Given the description of an element on the screen output the (x, y) to click on. 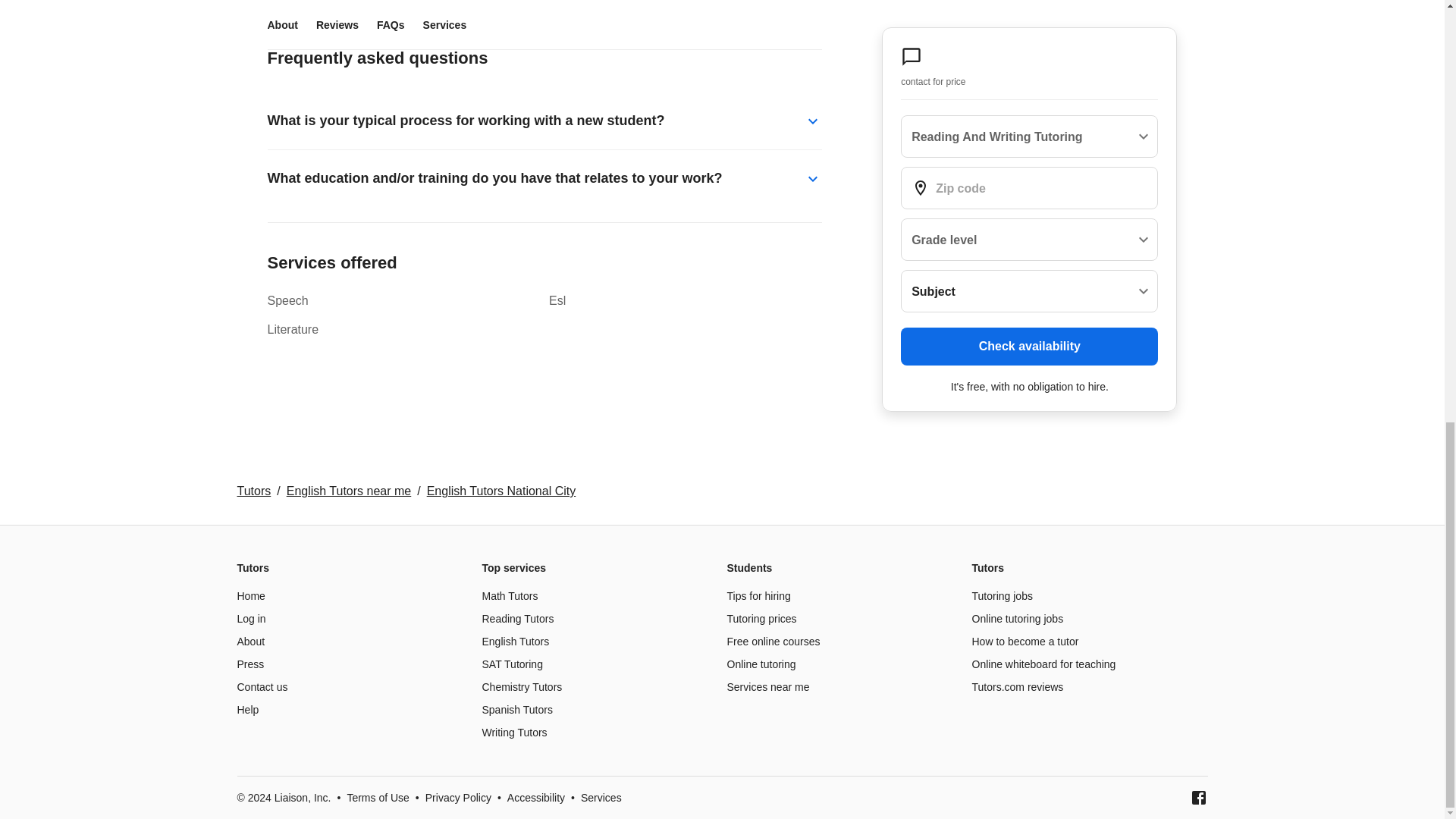
Reading Tutors (517, 618)
Help (247, 709)
SAT Tutoring (512, 664)
Tutors (252, 490)
Press (249, 664)
English Tutors (515, 641)
Log in (249, 618)
About (249, 641)
Facebook (1198, 797)
English Tutors National City (501, 490)
Home (249, 595)
Math Tutors (509, 595)
Contact us (260, 686)
English Tutors near me (349, 490)
